Given the description of an element on the screen output the (x, y) to click on. 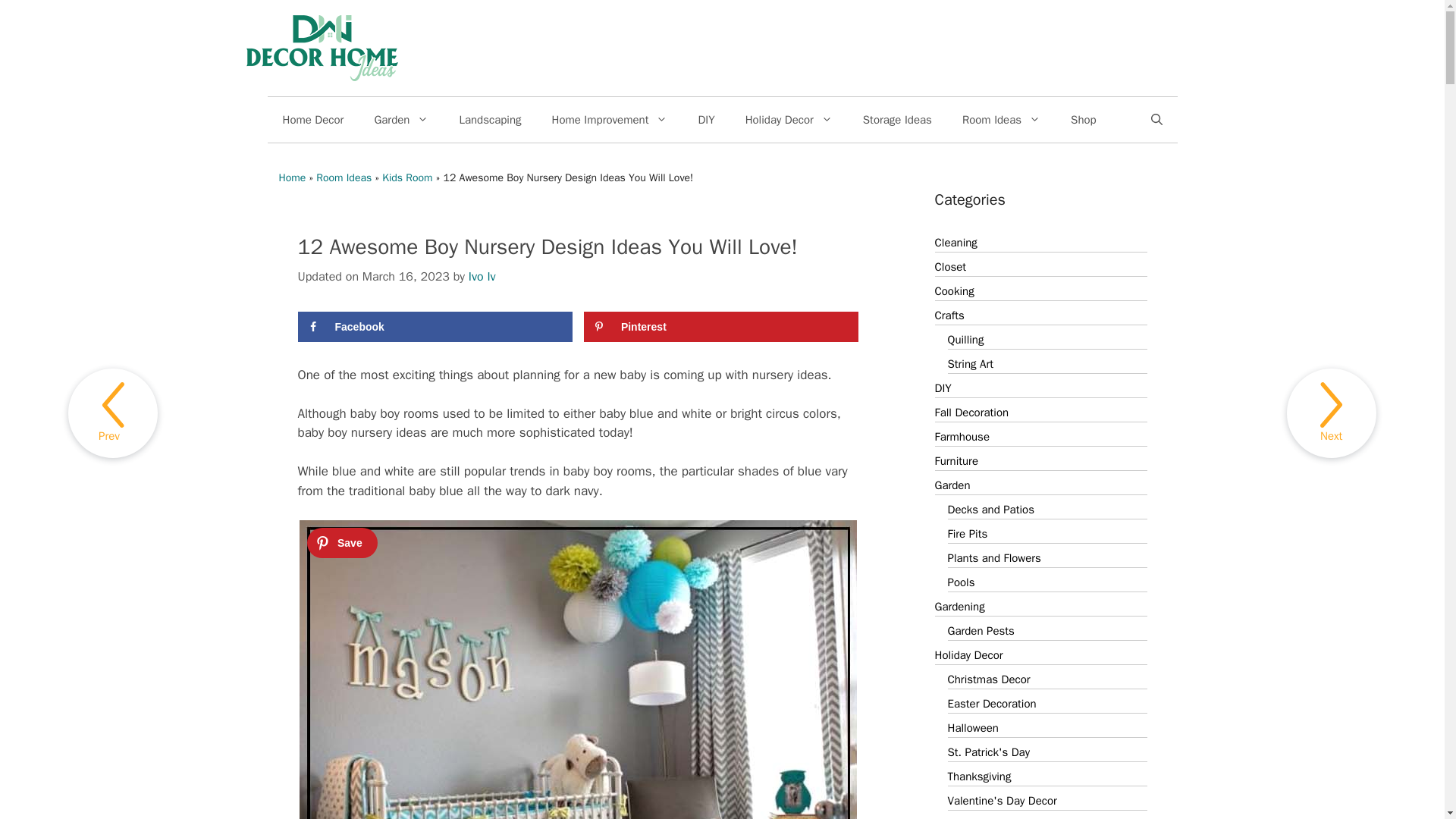
Garden (401, 119)
Share on Facebook (434, 327)
Save (342, 542)
Home Decor (312, 119)
View all posts by Ivo Iv (482, 276)
Save to Pinterest (721, 327)
